Given the description of an element on the screen output the (x, y) to click on. 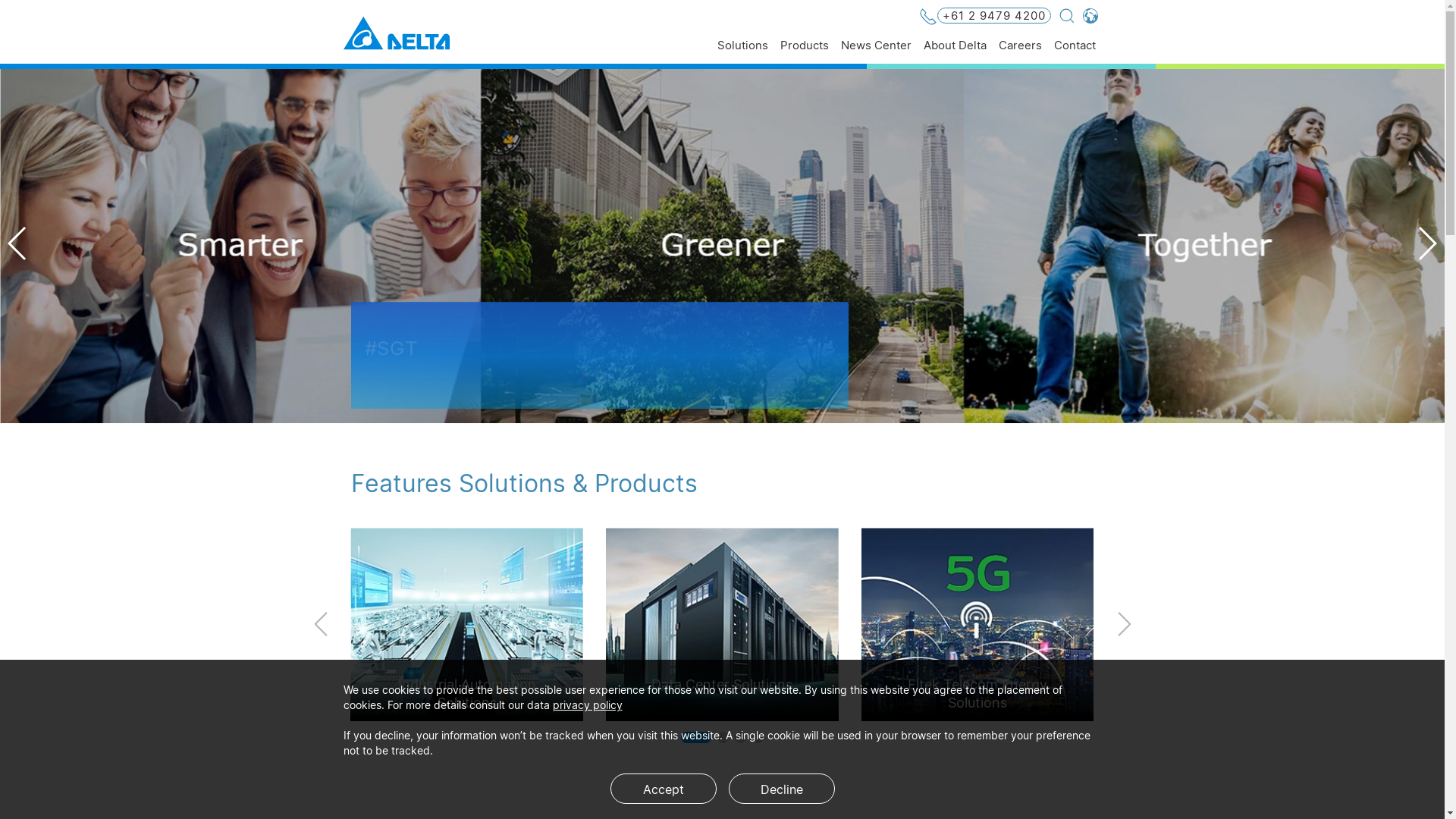
Careers Element type: text (1019, 51)
privacy policy Element type: text (586, 704)
Decline Element type: text (781, 788)
Contact Element type: text (1074, 51)
About Delta Element type: text (954, 51)
News Center Element type: text (875, 51)
Products Element type: text (803, 51)
Solutions Element type: text (742, 51)
+61 2 9479 4200 Element type: text (985, 16)
Accept Element type: text (662, 788)
